Given the description of an element on the screen output the (x, y) to click on. 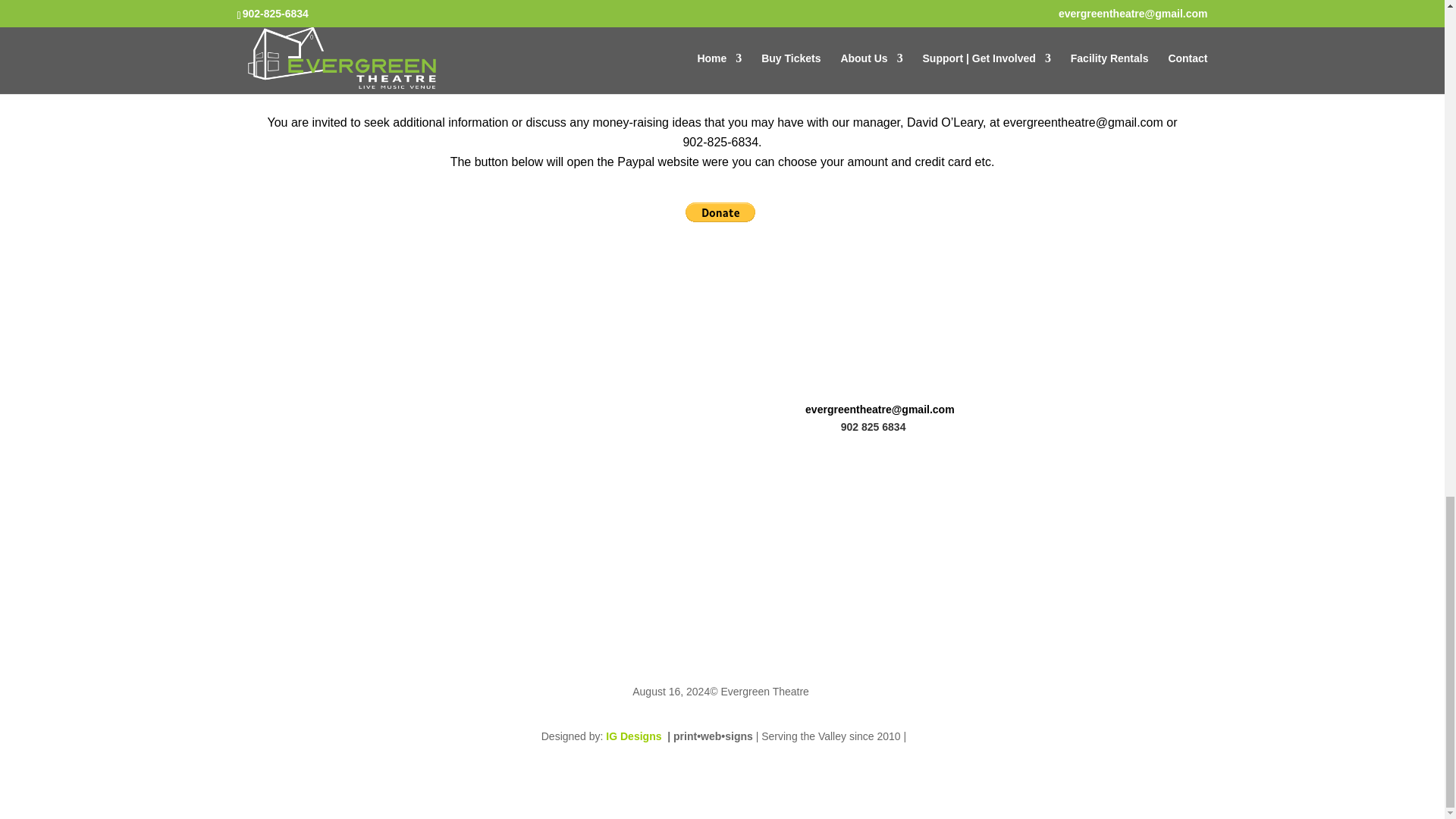
PayPal - The safer, easier way to pay online! (720, 211)
IG Designs (634, 736)
Follow on X (278, 493)
902 825 6834 (873, 426)
IG Designs (634, 736)
Follow on Instagram (309, 493)
Follow on Facebook (247, 493)
